Given the description of an element on the screen output the (x, y) to click on. 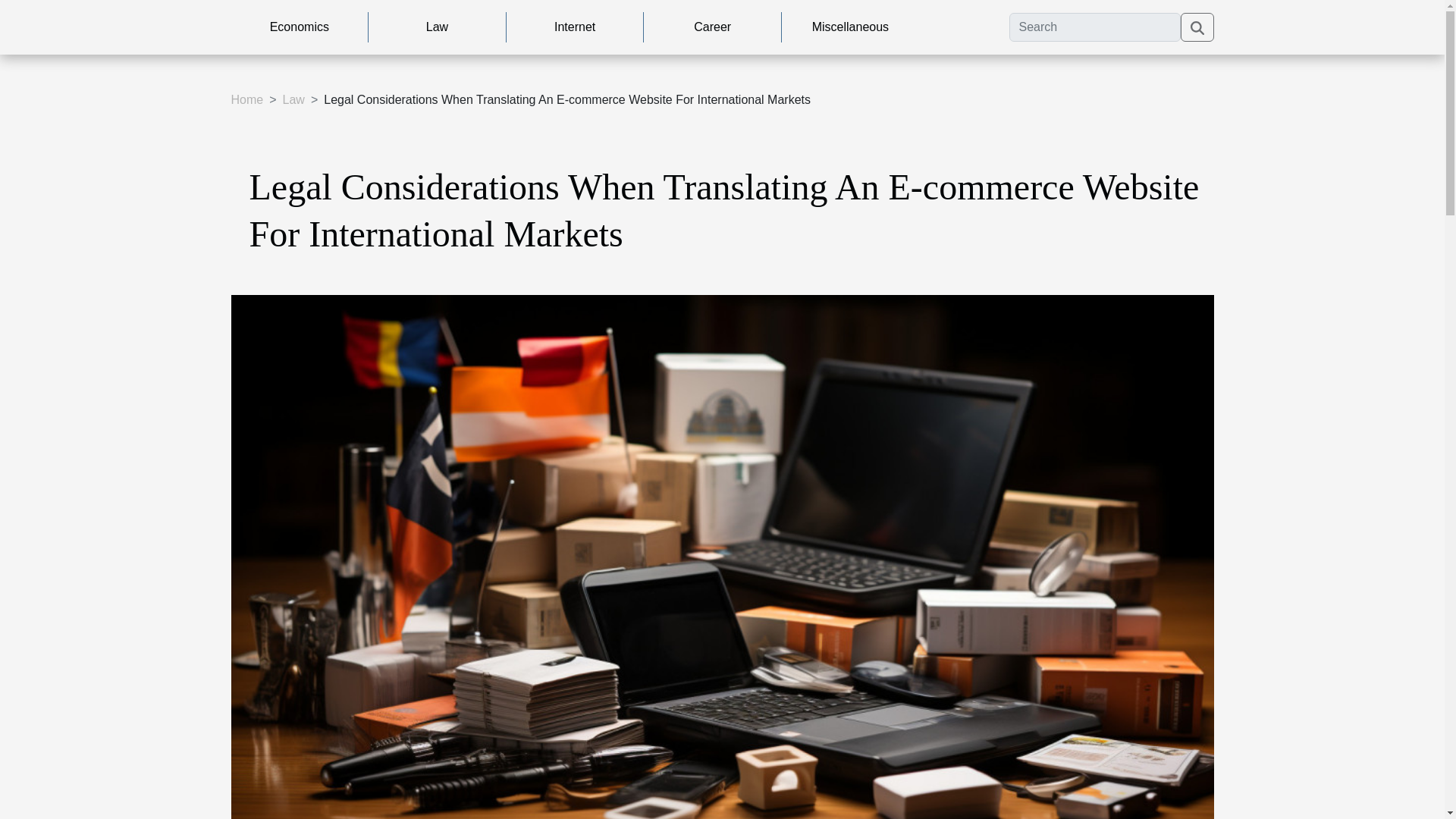
Career (712, 27)
Internet (574, 27)
Law (293, 99)
Law (293, 99)
Law (436, 27)
Home (246, 99)
Economics (299, 27)
Miscellaneous (850, 27)
